Given the description of an element on the screen output the (x, y) to click on. 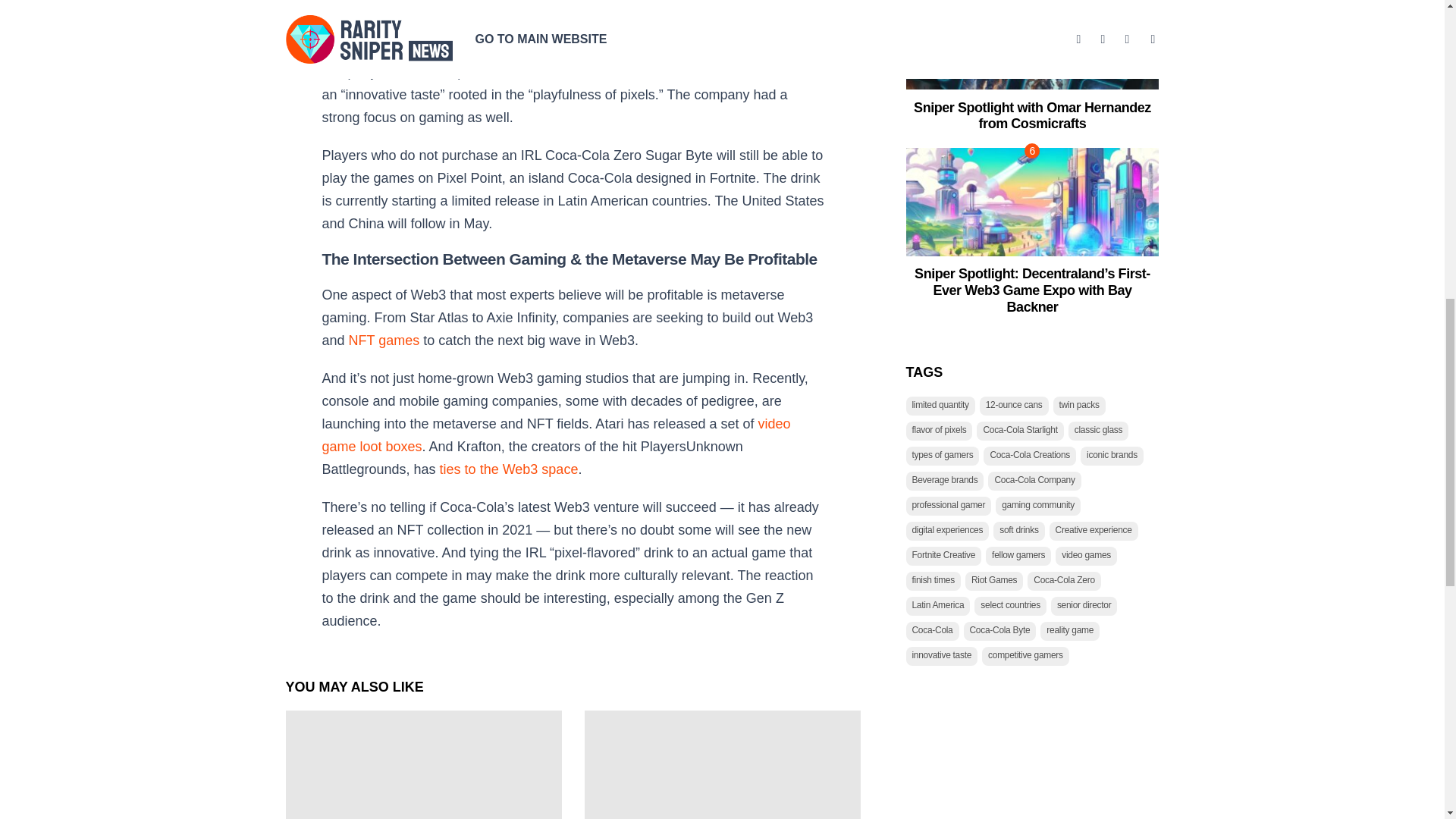
Sniper Spotlight with Omar Hernandez from Cosmicrafts (1032, 115)
video game loot boxes (555, 435)
NFT games (384, 340)
ties to the Web3 space (508, 468)
said (719, 48)
